Given the description of an element on the screen output the (x, y) to click on. 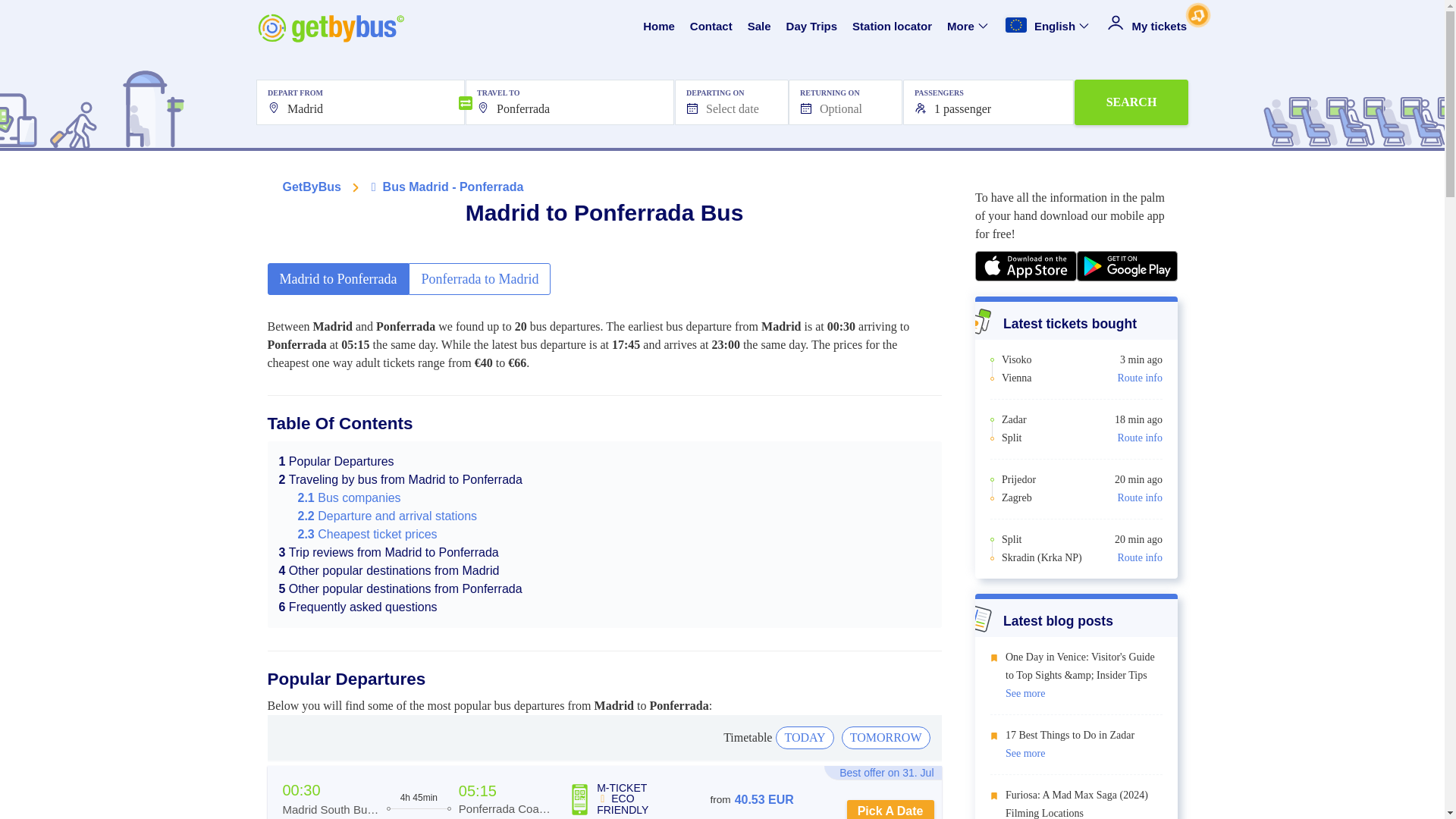
TODAY (804, 737)
 GetByBus (311, 186)
Ponferrada to Madrid (479, 278)
GetByBus (311, 186)
Other popular destinations from Madrid (389, 570)
Departure and arrival stations (387, 515)
Popular Departures (336, 461)
English (1048, 26)
Traveling by bus from Madrid to Ponferrada (400, 479)
Madrid (360, 102)
Bus companies (348, 497)
Day Trips (812, 26)
Frequently asked questions (358, 606)
SEARCH (1131, 102)
 My tickets (1146, 26)
